Given the description of an element on the screen output the (x, y) to click on. 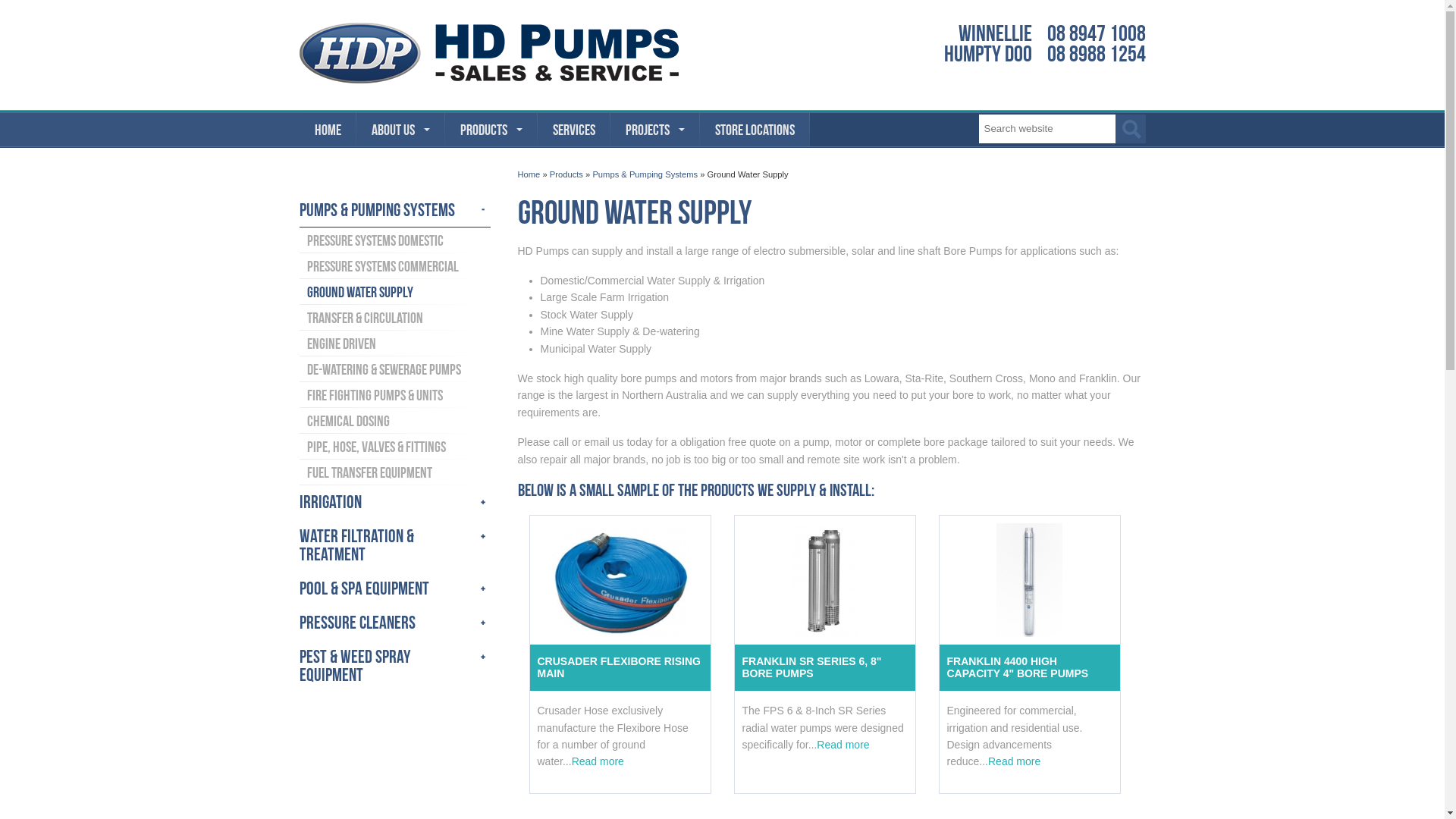
PEST & WEED SPRAY EQUIPMENT Element type: text (393, 666)
Home Element type: text (528, 173)
PRODUCTS Element type: text (490, 129)
IRRIGATION Element type: text (393, 502)
Read more Element type: text (842, 744)
PROJECTS Element type: text (654, 129)
FIRE FIGHTING PUMPS & UNITS Element type: text (393, 394)
Read more Element type: text (597, 761)
Products Element type: text (566, 173)
PIPE, HOSE, VALVES & FITTINGS Element type: text (393, 446)
DE-WATERING & SEWERAGE PUMPS Element type: text (393, 369)
SERVICES Element type: text (572, 129)
Search Element type: text (1131, 128)
TRANSFER & CIRCULATION Element type: text (393, 317)
PRESSURE SYSTEMS COMMERCIAL Element type: text (393, 266)
HD PUMPS Element type: text (487, 52)
Skip to main content Element type: text (48, 0)
Read more Element type: text (1014, 761)
PRESSURE SYSTEMS DOMESTIC Element type: text (393, 240)
PUMPS & PUMPING SYSTEMS Element type: text (393, 210)
ENGINE DRIVEN Element type: text (393, 343)
CRUSADER FLEXIBORE RISING MAIN Element type: text (619, 667)
ABOUT US Element type: text (400, 129)
GROUND WATER SUPPLY Element type: text (393, 291)
POOL & SPA EQUIPMENT Element type: text (393, 588)
Enter the terms you wish to search for. Element type: hover (1046, 128)
HOME Element type: text (326, 129)
CHEMICAL DOSING Element type: text (393, 420)
FUEL TRANSFER EQUIPMENT Element type: text (393, 472)
WATER FILTRATION & TREATMENT Element type: text (393, 545)
Pumps & Pumping Systems Element type: text (644, 173)
FRANKLIN SR SERIES 6, 8" BORE PUMPS Element type: text (824, 667)
PRESSURE CLEANERS Element type: text (393, 622)
STORE LOCATIONS Element type: text (754, 129)
FRANKLIN 4400 HIGH CAPACITY 4" BORE PUMPS Element type: text (1028, 667)
